Given the description of an element on the screen output the (x, y) to click on. 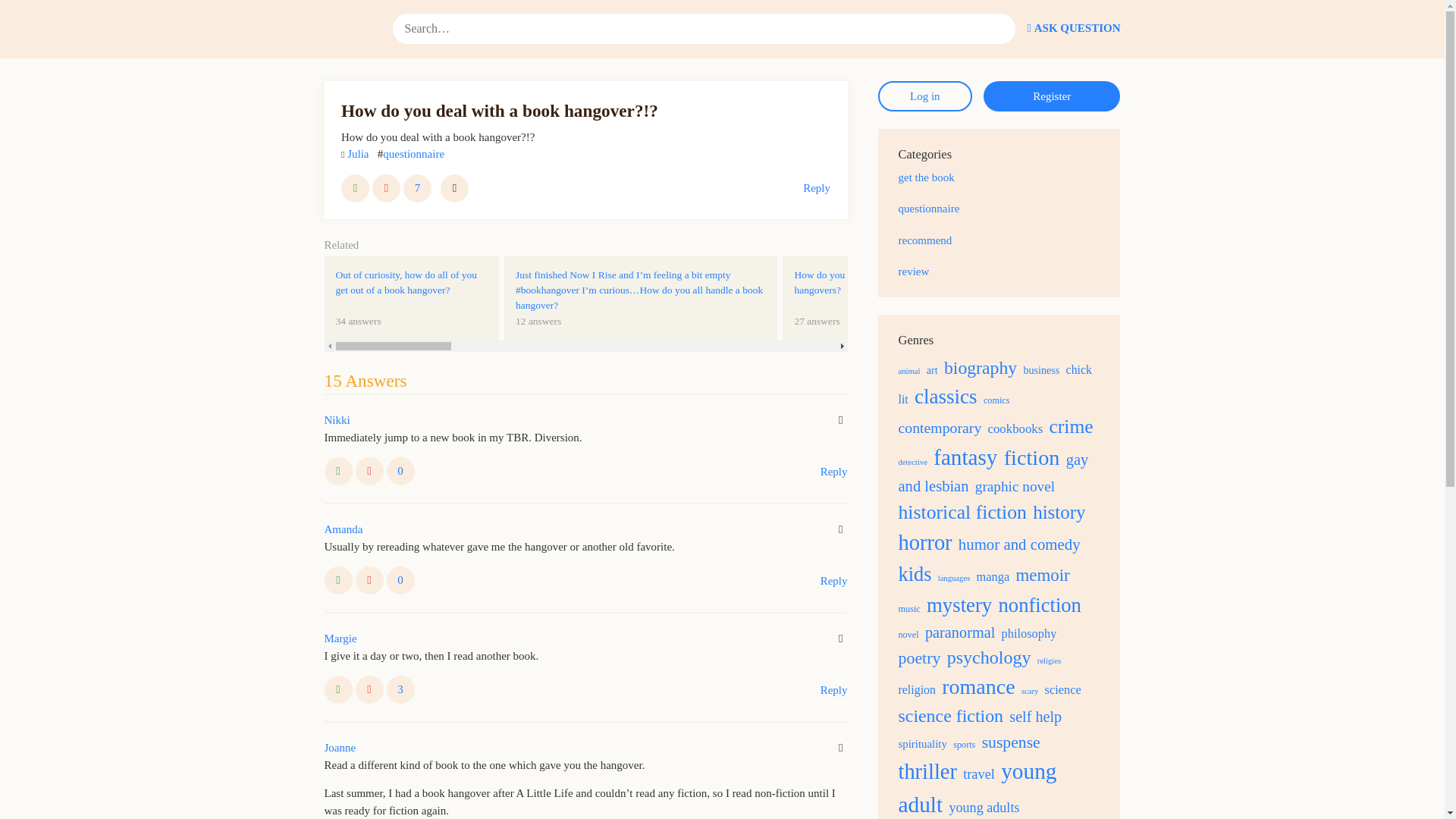
Rating (400, 580)
Vote down (368, 580)
Vote up (338, 689)
Search for: (704, 28)
Nikki (337, 420)
Share (869, 298)
Vote down (454, 188)
Margie (368, 471)
Reply (340, 638)
Rating (816, 188)
Vote up (400, 689)
Rating (338, 580)
Reply (400, 471)
Vote down (834, 689)
